Given the description of an element on the screen output the (x, y) to click on. 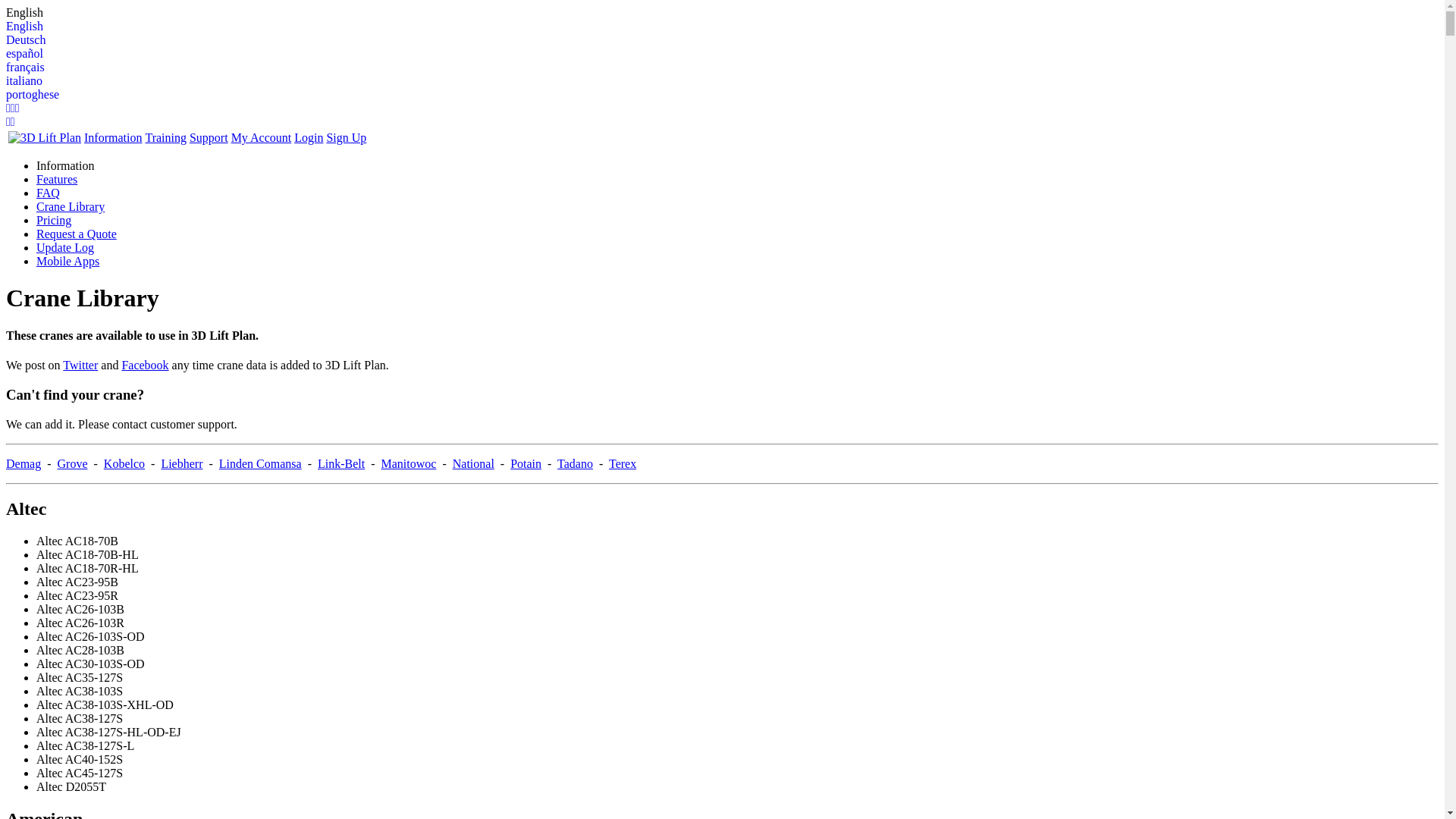
Demag Element type: text (23, 463)
Twitter Element type: text (79, 364)
Login Element type: text (308, 137)
Kobelco Element type: text (123, 463)
Request a Quote Element type: text (76, 233)
Manitowoc Element type: text (408, 463)
Facebook Element type: text (144, 364)
Terex Element type: text (622, 463)
Pricing Element type: text (53, 219)
Potain Element type: text (525, 463)
Deutsch Element type: text (722, 40)
italiano Element type: text (722, 80)
Grove Element type: text (72, 463)
Features Element type: text (56, 178)
Link-Belt Element type: text (340, 463)
National Element type: text (473, 463)
Mobile Apps Element type: text (67, 260)
Tadano Element type: text (575, 463)
Information Element type: text (112, 137)
Crane Library Element type: text (70, 206)
Support Element type: text (208, 137)
Liebherr Element type: text (181, 463)
Update Log Element type: text (65, 247)
My Account Element type: text (261, 137)
Linden Comansa Element type: text (260, 463)
FAQ Element type: text (47, 192)
portoghese Element type: text (722, 94)
English Element type: text (722, 26)
English Element type: text (722, 12)
Training Element type: text (165, 137)
Sign Up Element type: text (346, 137)
